Given the description of an element on the screen output the (x, y) to click on. 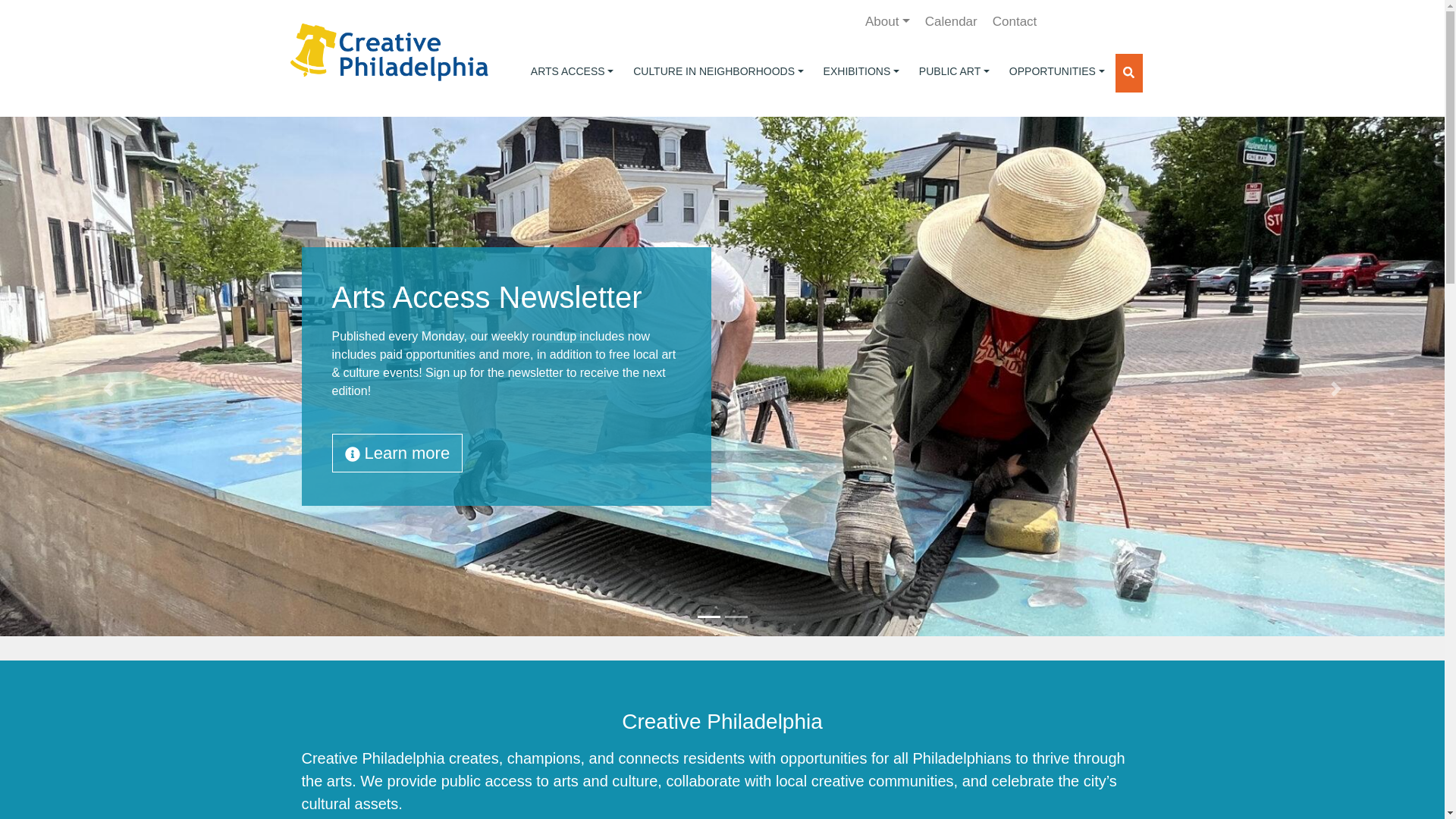
ARTS ACCESS (572, 72)
PUBLIC ART (954, 72)
Calendar (951, 21)
INSTAGRAM, OPENS IN NEW TAB (1125, 22)
TWITTER, OPENS IN NEW TAB (1093, 22)
About (887, 21)
OPPORTUNITIES (1056, 72)
SEARCH SITE (1128, 73)
FACEBOOK, OPENS IN NEW TAB (1061, 22)
EXHIBITIONS (860, 72)
Contact (1015, 21)
CULTURE IN NEIGHBORHOODS (718, 72)
Search this Site (1128, 73)
